Given the description of an element on the screen output the (x, y) to click on. 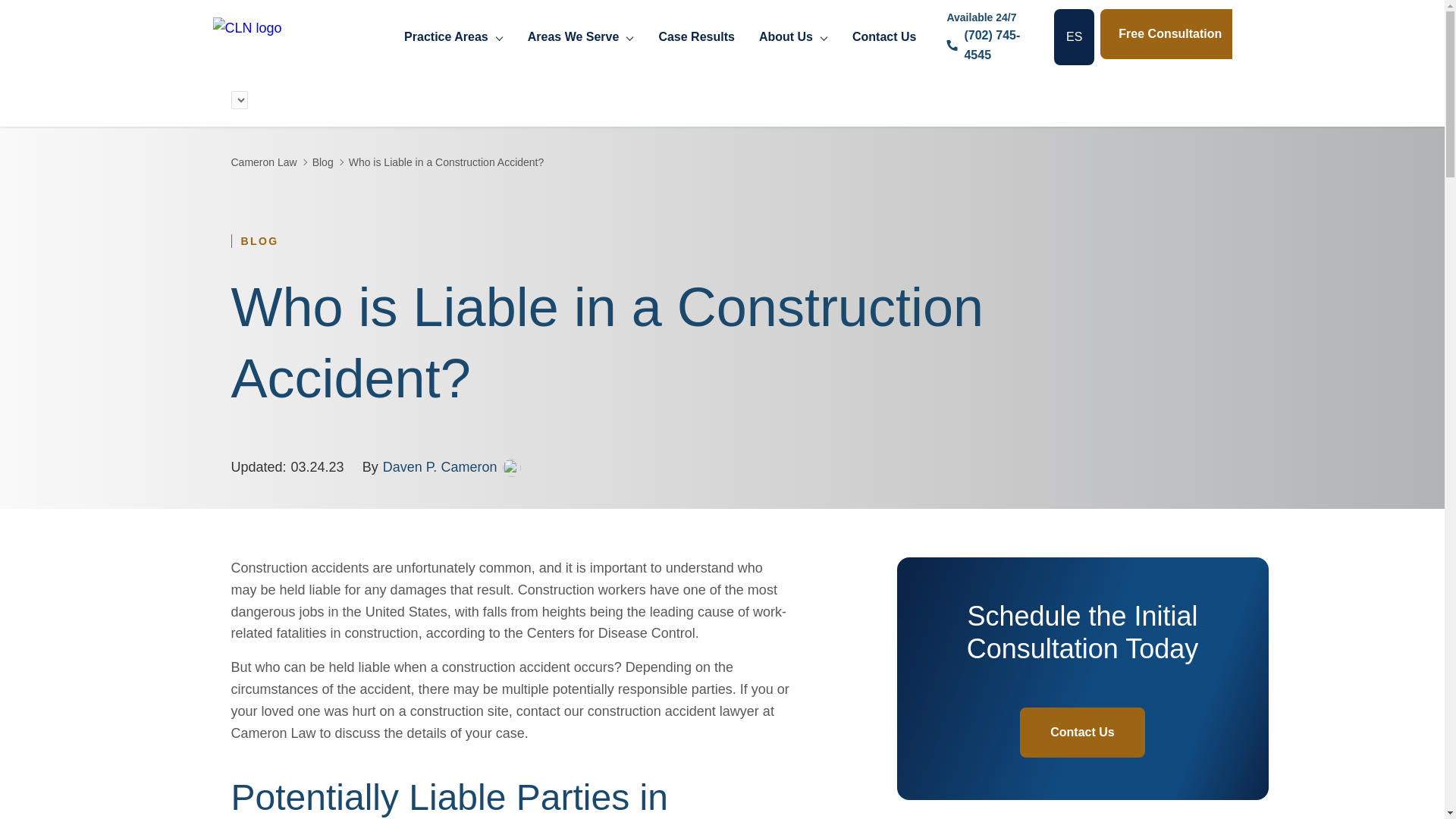
Pedestrian Accidents (516, 228)
Bus Accidents (494, 312)
Motorcycle Accidents (518, 200)
Casino Accidents (630, 144)
Truck Accidents (500, 172)
Taxi Accidents (495, 256)
Car Accidents (493, 144)
